Given the description of an element on the screen output the (x, y) to click on. 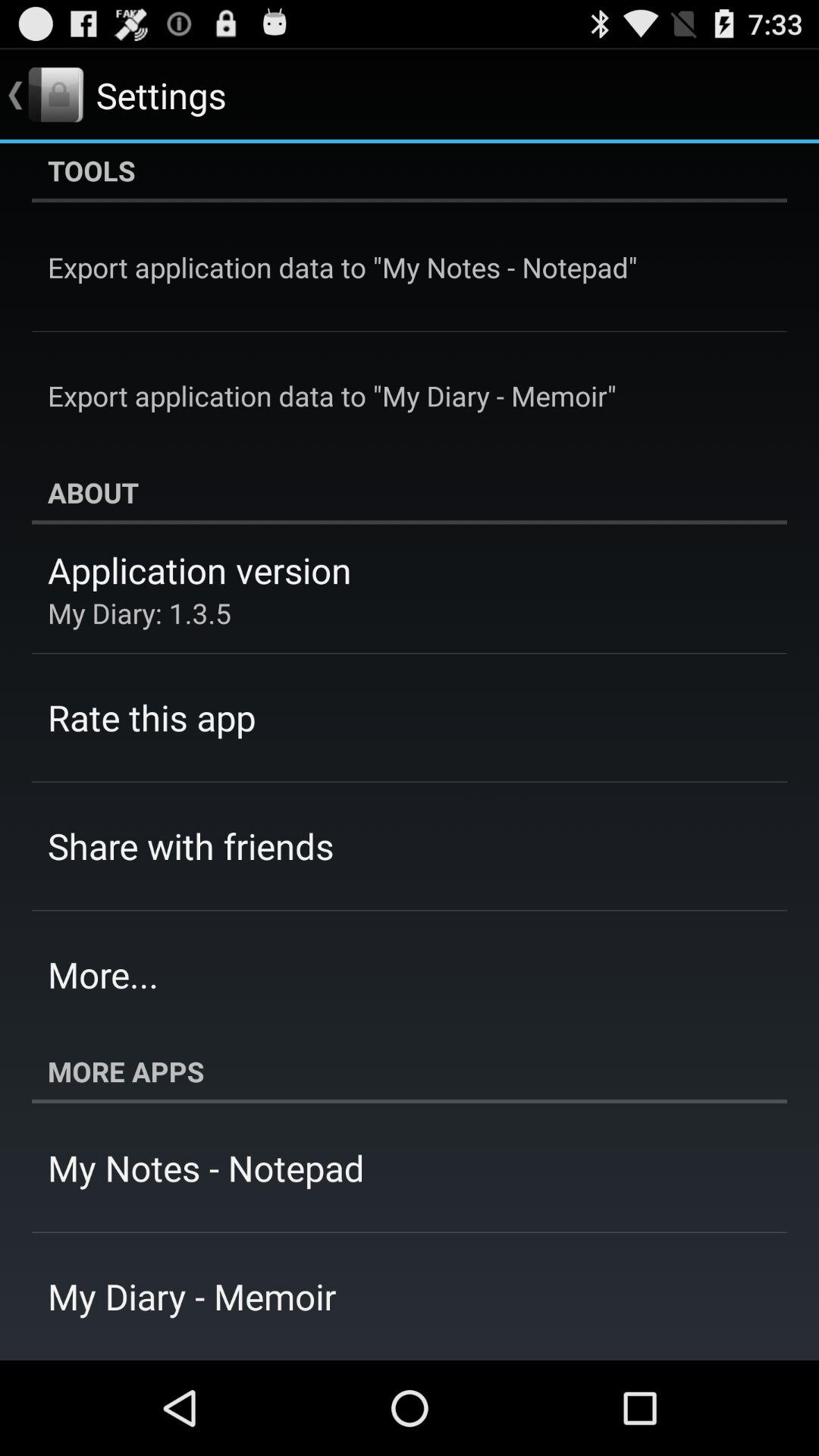
select the share with friends item (190, 845)
